Given the description of an element on the screen output the (x, y) to click on. 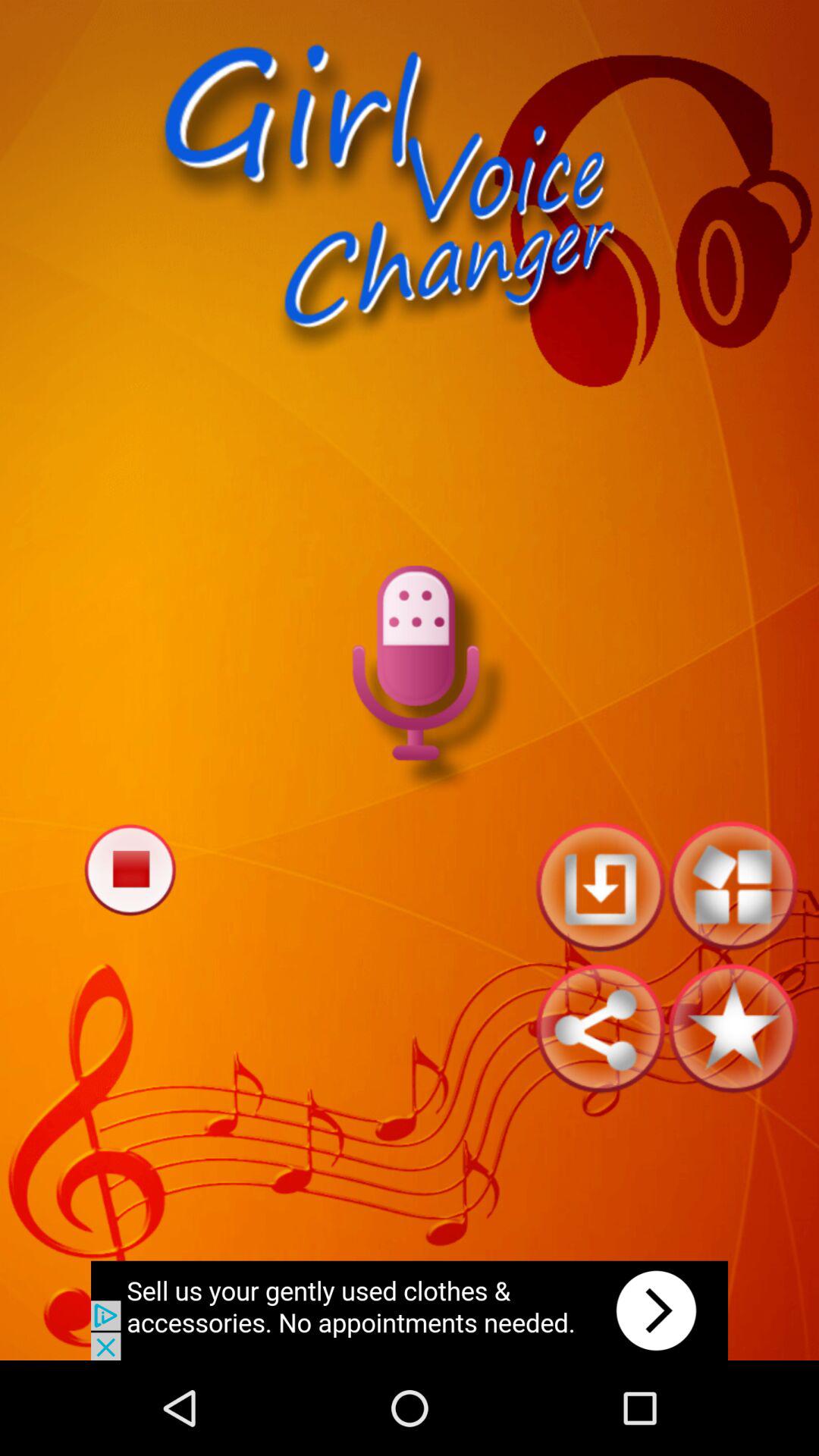
stop button (129, 869)
